Given the description of an element on the screen output the (x, y) to click on. 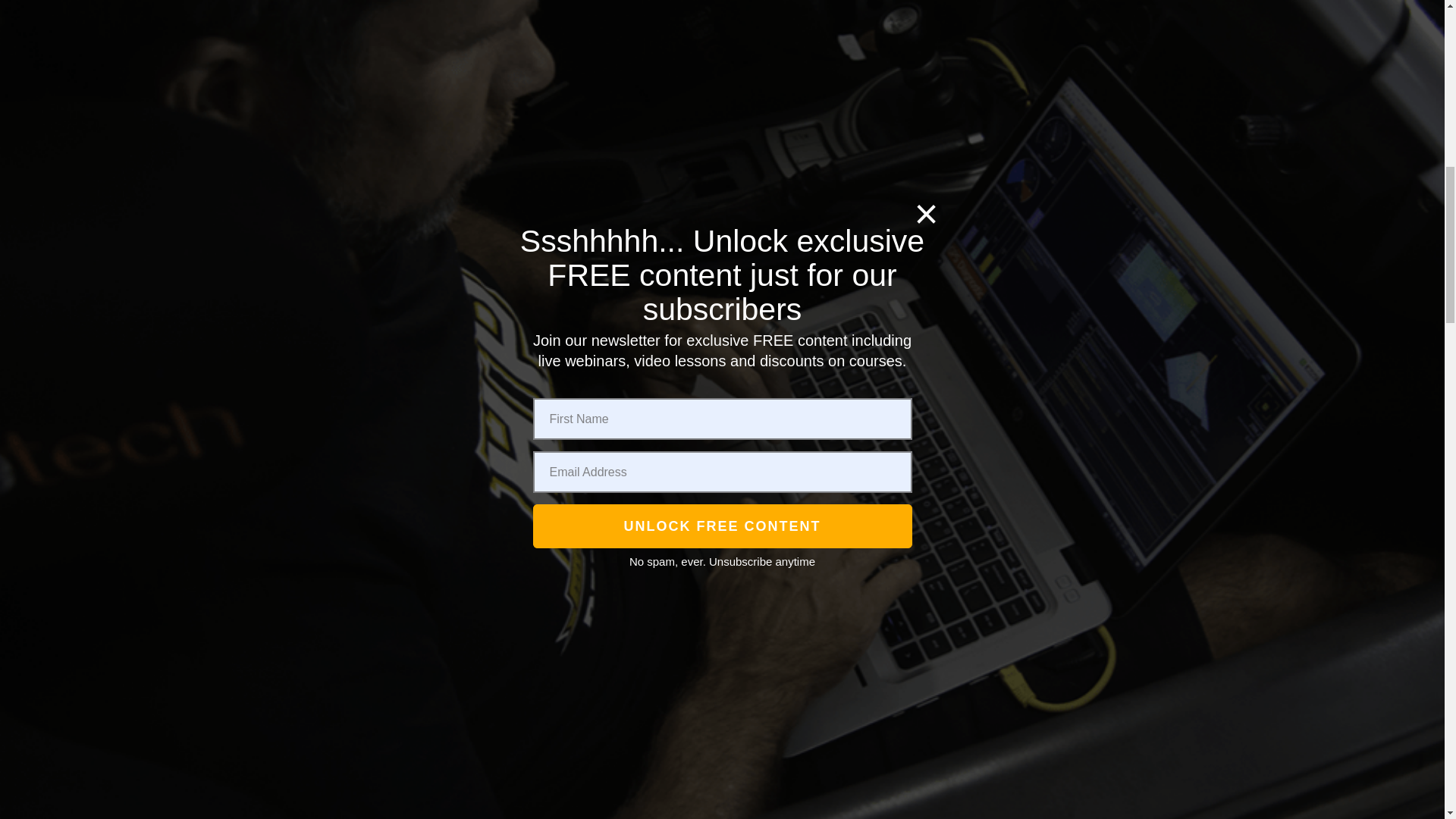
Click here to view Andre.Simon (355, 445)
Click here to view Andre.Simon (355, 98)
Click here to view Jordie (355, 653)
Click here to view Andre.Simon (355, 31)
Click here to view Andre.Simon (355, 513)
Click here to view tapeneck (355, 305)
Click here to view tapeneck (355, 238)
Click here to view Jordie (355, 720)
